Given the description of an element on the screen output the (x, y) to click on. 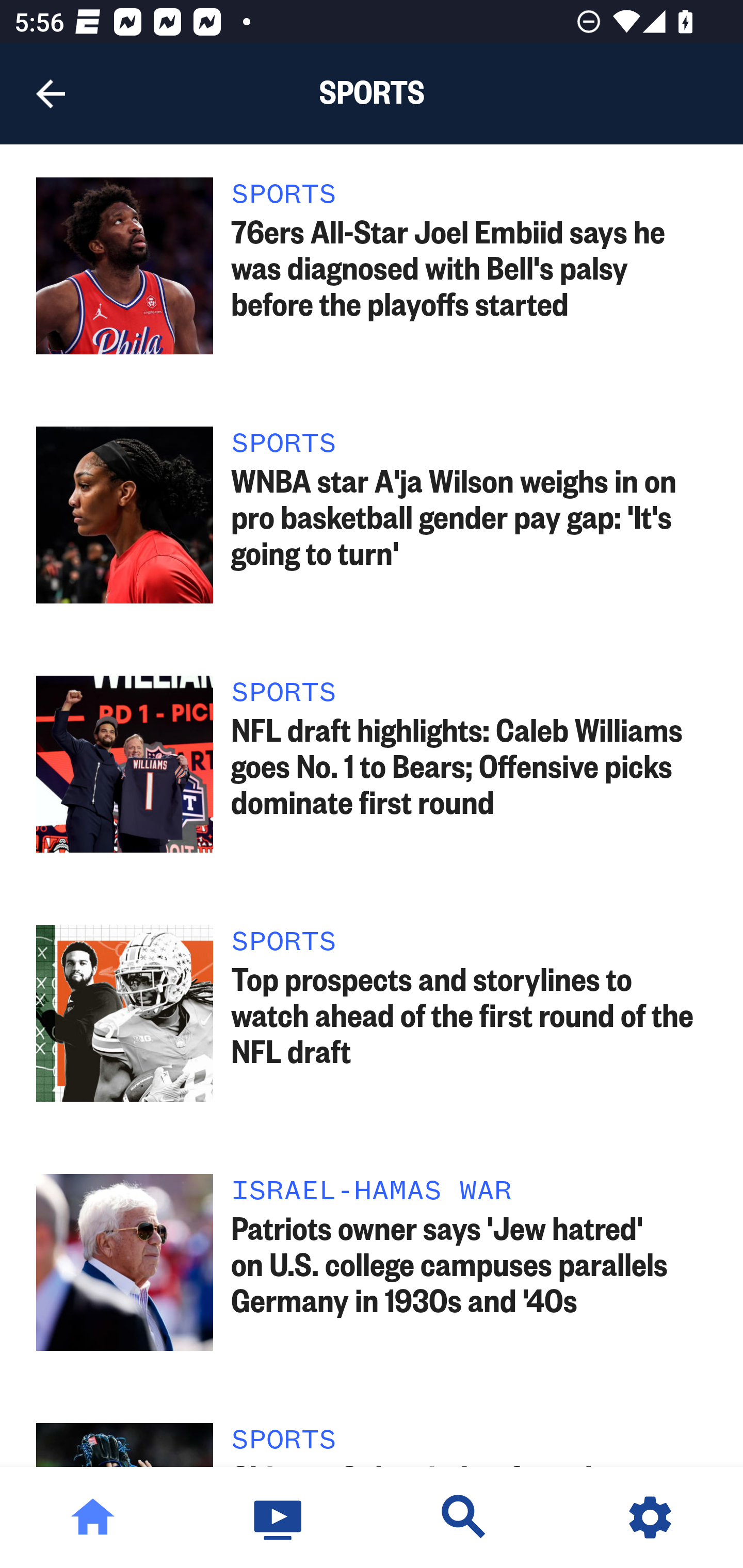
Navigate up (50, 93)
Watch (278, 1517)
Discover (464, 1517)
Settings (650, 1517)
